Given the description of an element on the screen output the (x, y) to click on. 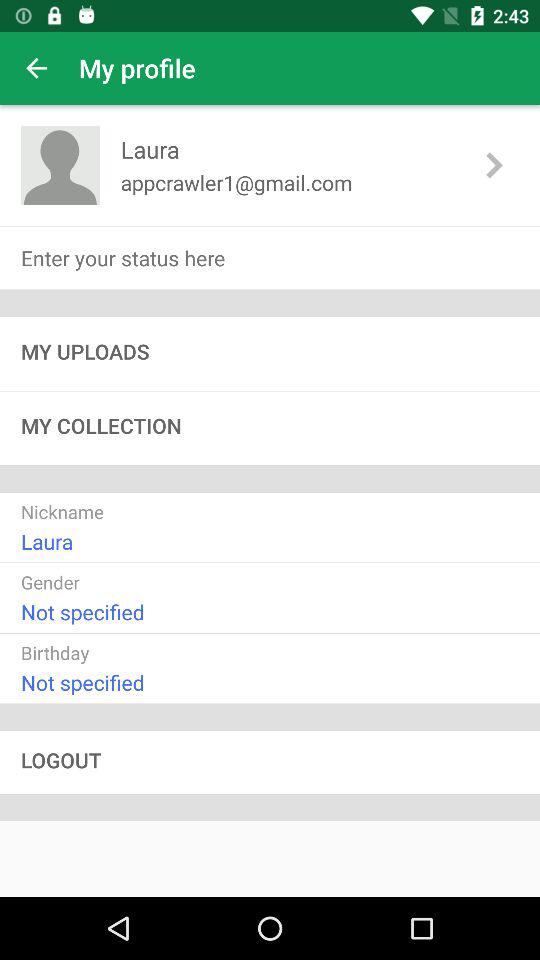
turn on item to the left of the my profile app (36, 68)
